Given the description of an element on the screen output the (x, y) to click on. 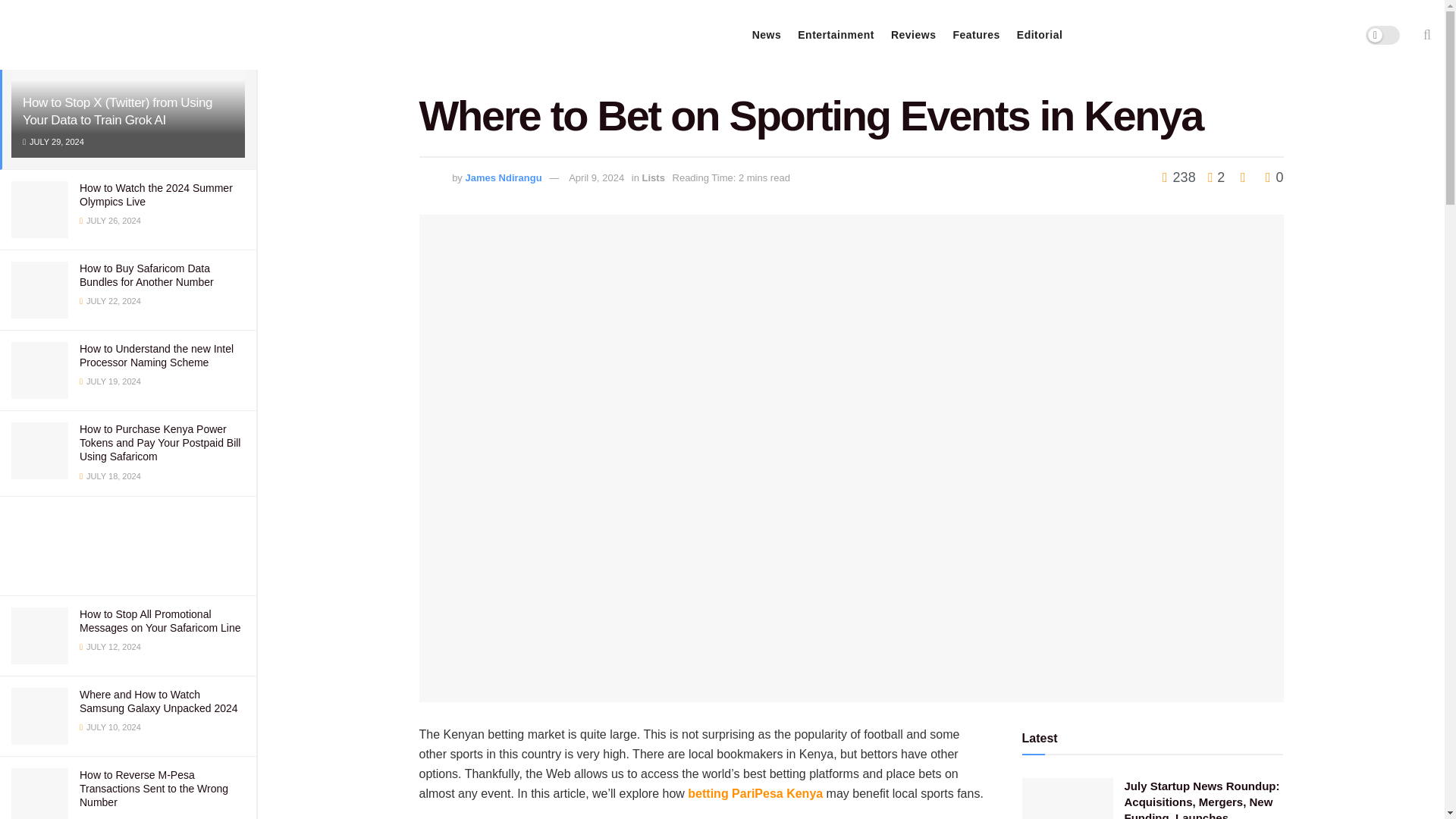
DHgate Tablet Cases deals (127, 545)
How to Reverse M-Pesa Transactions Sent to the Wrong Number (154, 788)
How to Understand the new Intel Processor Naming Scheme (156, 355)
Entertainment (836, 34)
News (766, 34)
How to Buy Safaricom Data Bundles for Another Number (147, 275)
Where and How to Watch Samsung Galaxy Unpacked 2024 (159, 701)
How to Stop All Promotional Messages on Your Safaricom Line (160, 620)
Reviews (913, 34)
How to Watch the 2024 Summer Olympics Live (156, 194)
Features (975, 34)
Editorial (1039, 34)
